Given the description of an element on the screen output the (x, y) to click on. 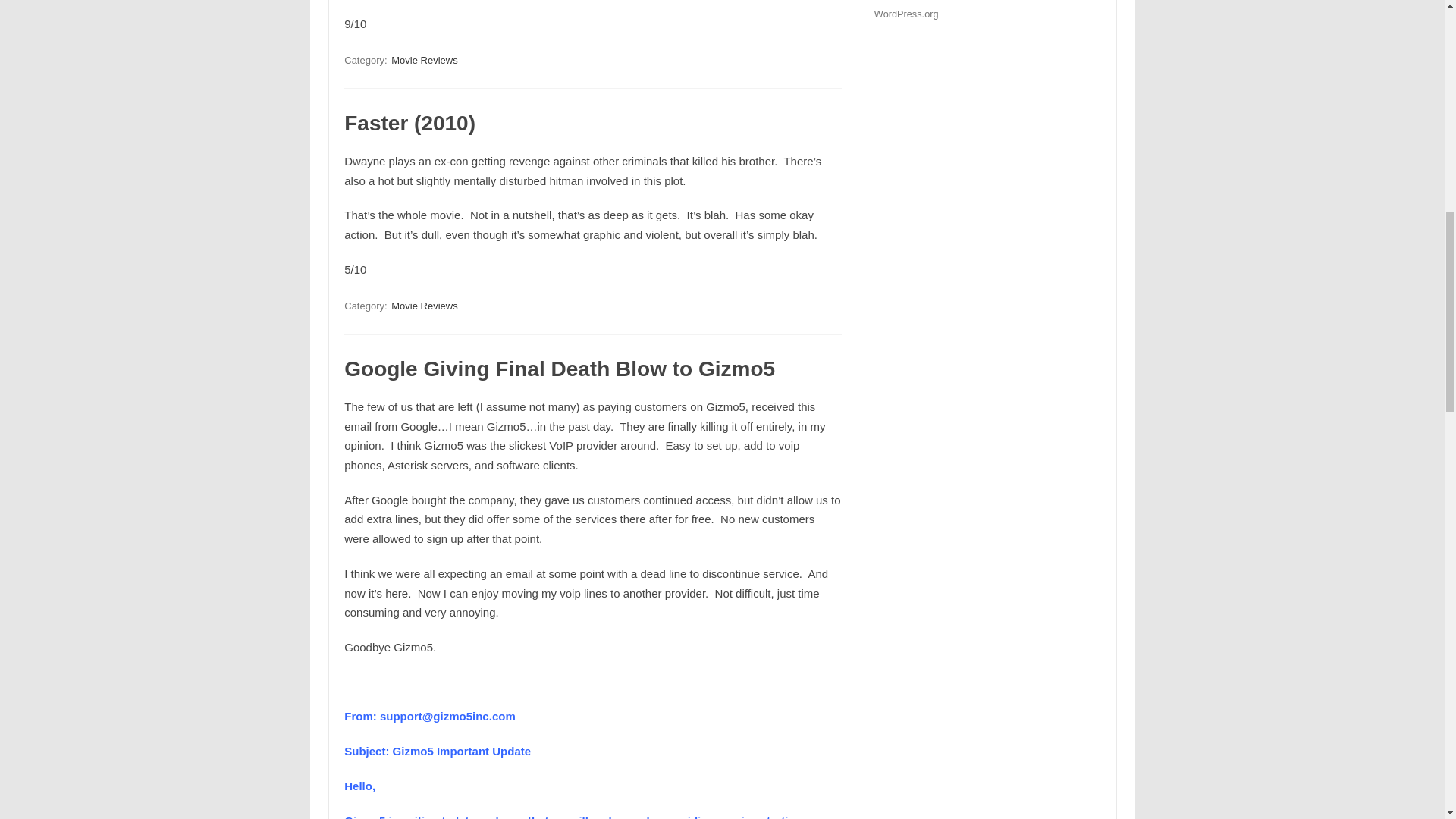
Movie Reviews (424, 60)
Movie Reviews (424, 305)
WordPress.org (907, 13)
Permalink to Google Giving Final Death Blow to Gizmo5 (558, 368)
Google Giving Final Death Blow to Gizmo5 (558, 368)
